Given the description of an element on the screen output the (x, y) to click on. 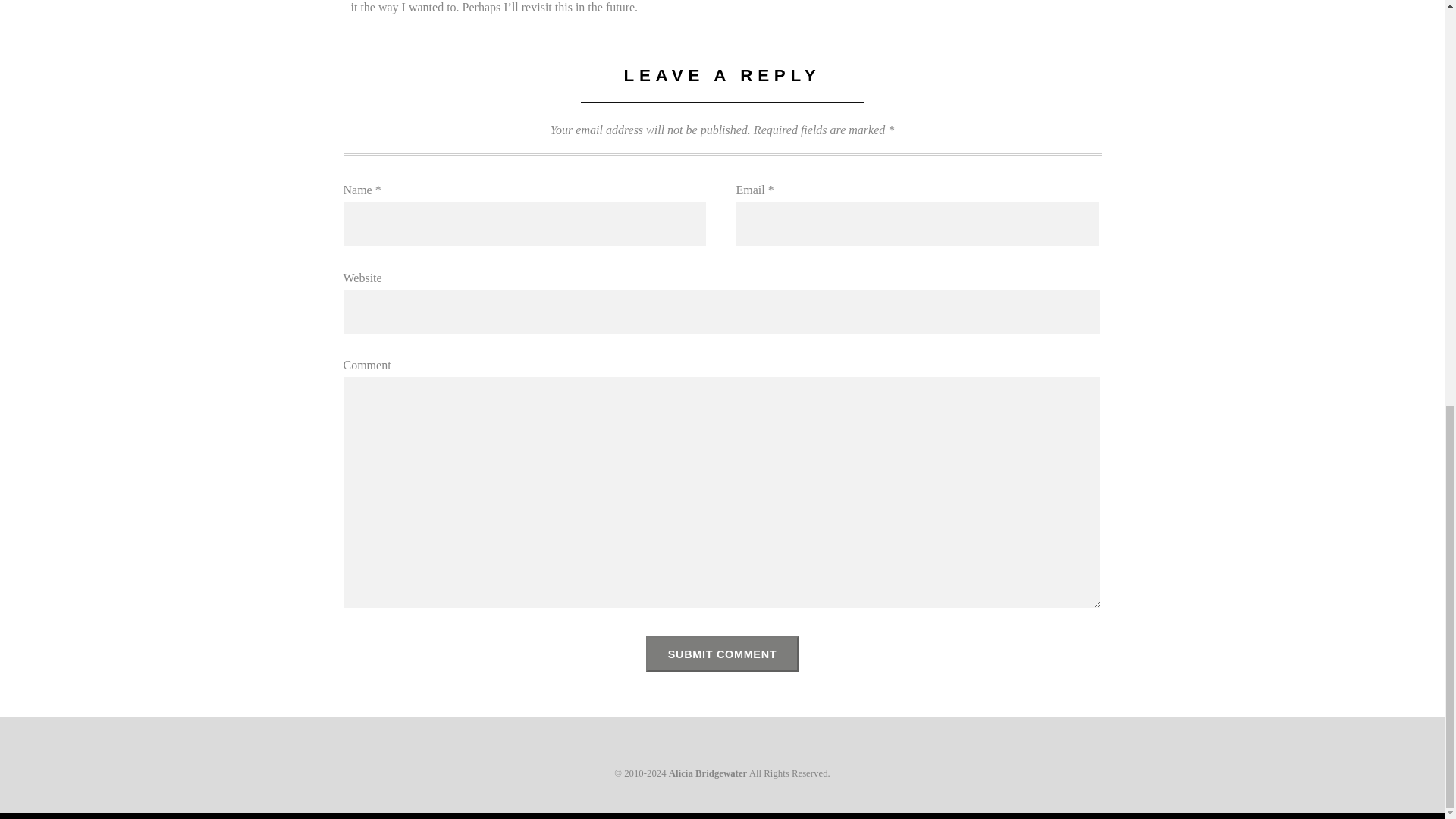
Alicia Bridgewater (707, 773)
Submit Comment (722, 653)
Submit Comment (722, 653)
